Given the description of an element on the screen output the (x, y) to click on. 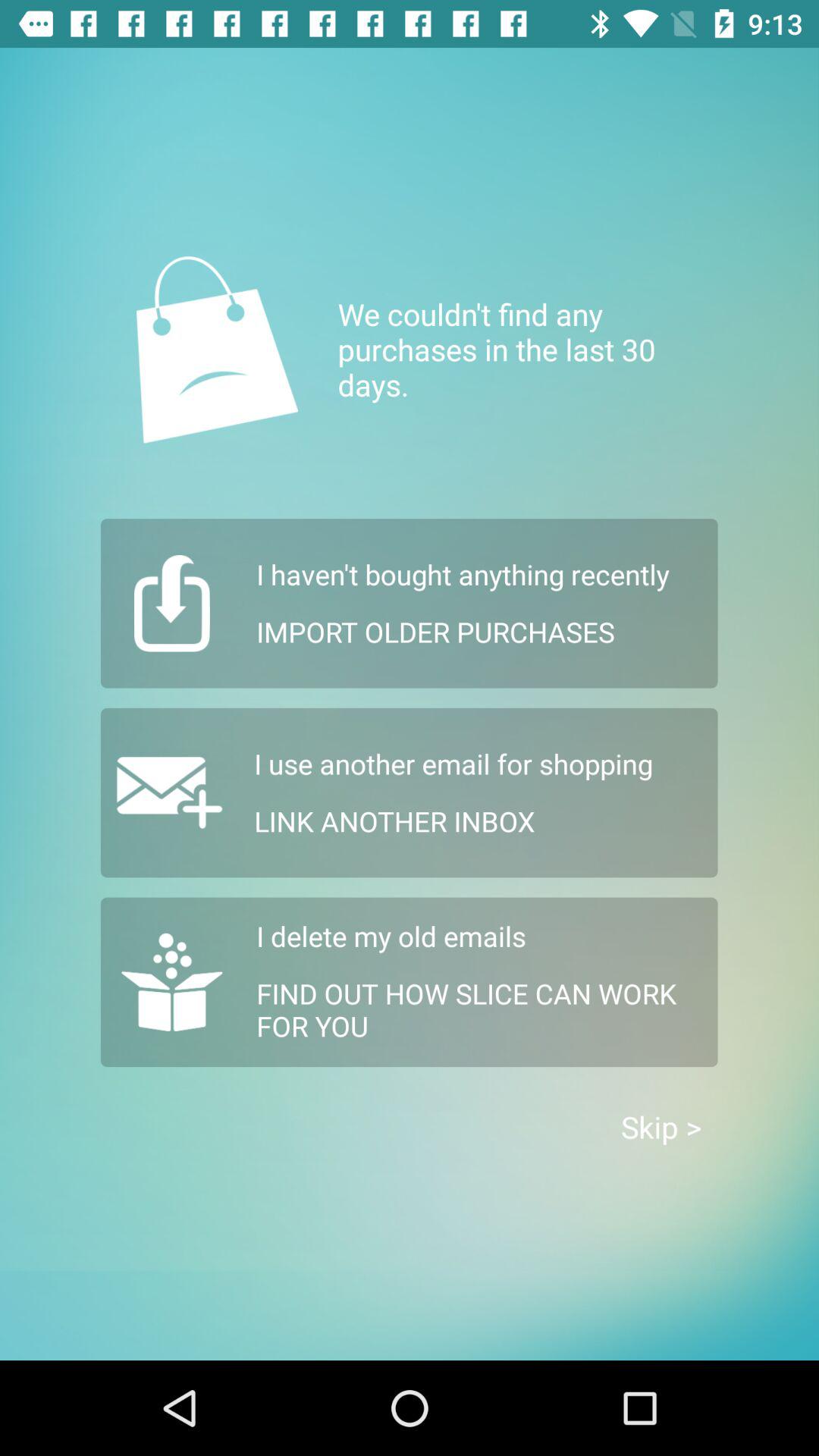
launch the icon at the bottom right corner (661, 1126)
